Given the description of an element on the screen output the (x, y) to click on. 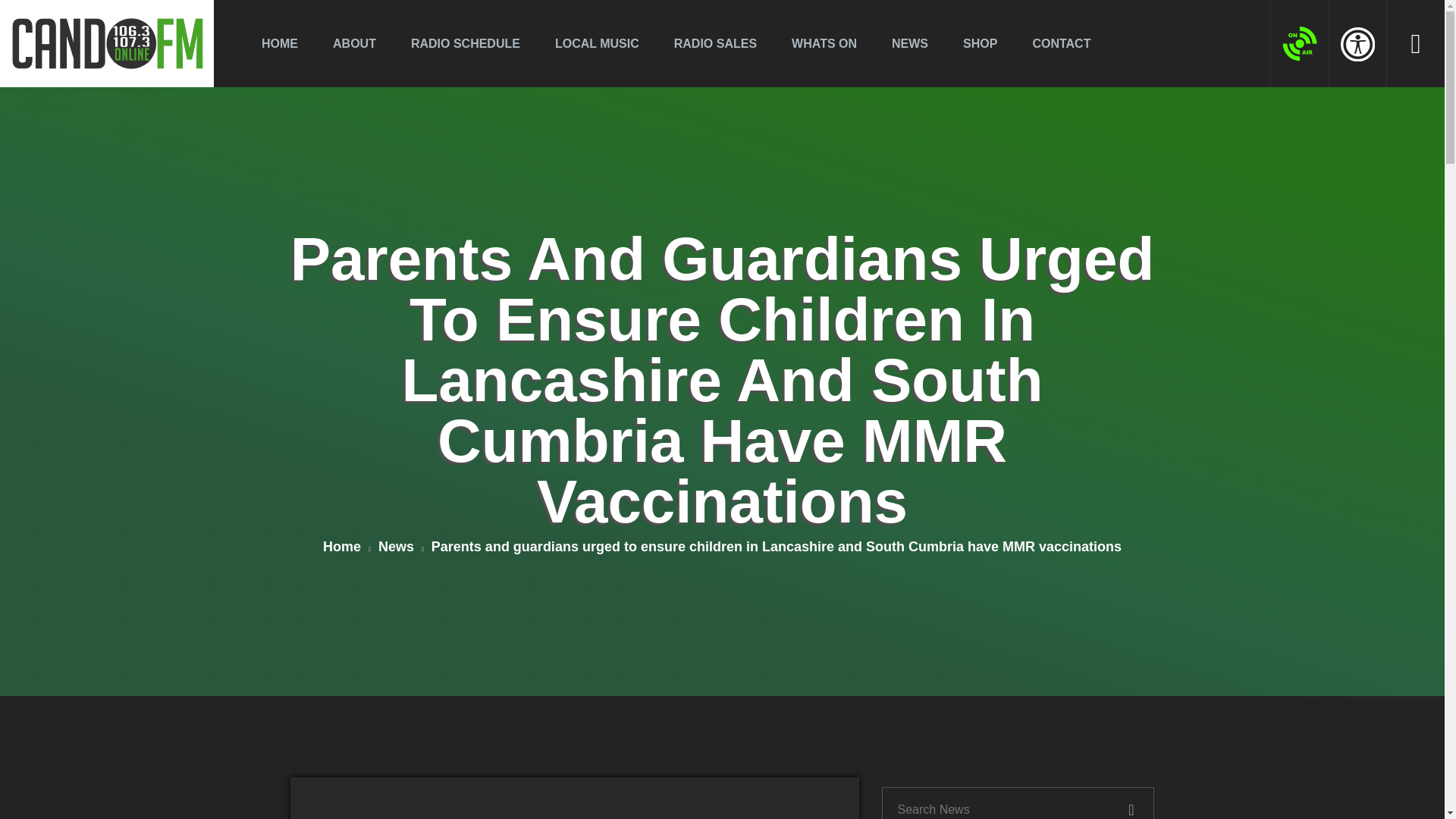
HOME (279, 42)
CONTACT (1060, 42)
LogIn Account (1235, 97)
Home (347, 548)
SHOP (980, 42)
RADIO SALES (714, 42)
Create New Account (1300, 94)
NEWS (909, 42)
News (400, 548)
